Given the description of an element on the screen output the (x, y) to click on. 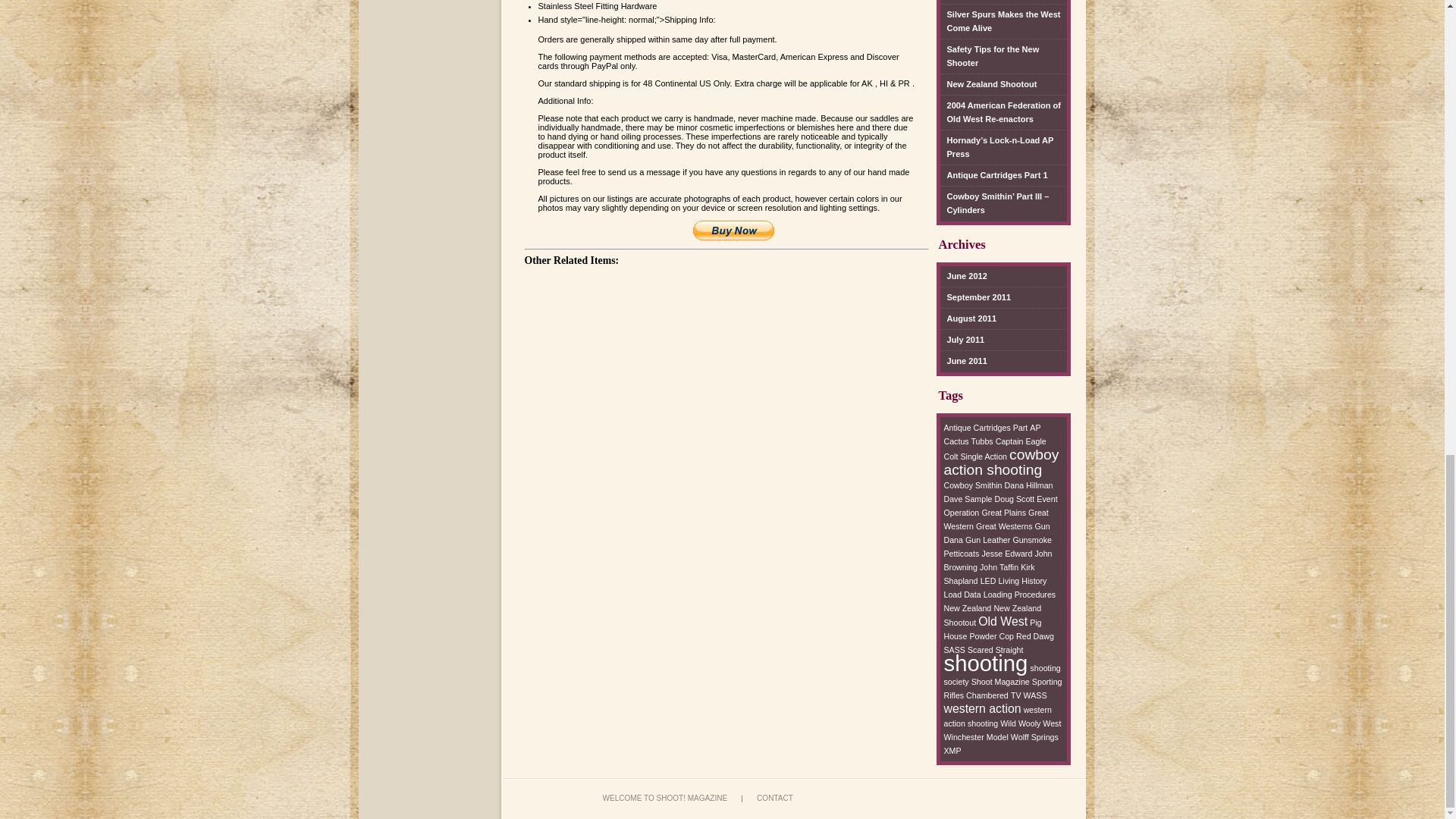
June 2012 (963, 276)
September 2011 (975, 297)
Antique Cartridges Part 1 (994, 175)
July 2011 (962, 340)
Buy Now (733, 230)
Defending the Pig House (993, 2)
Safety Tips for the New Shooter (1003, 56)
New Zealand Shootout (988, 84)
AP (1035, 427)
August 2011 (968, 319)
